Given the description of an element on the screen output the (x, y) to click on. 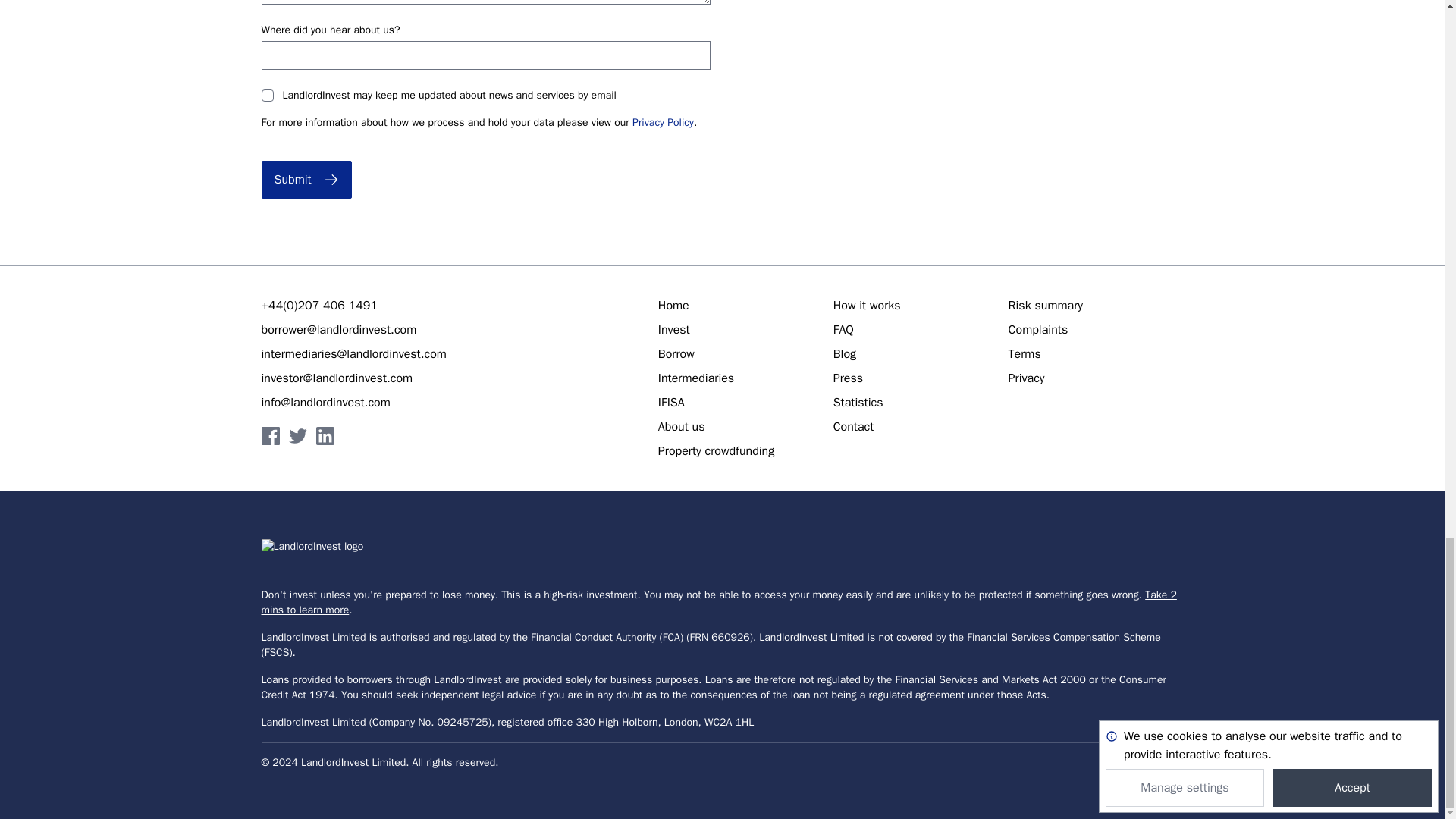
Submit (305, 179)
1 (266, 95)
Privacy Policy (662, 122)
